Given the description of an element on the screen output the (x, y) to click on. 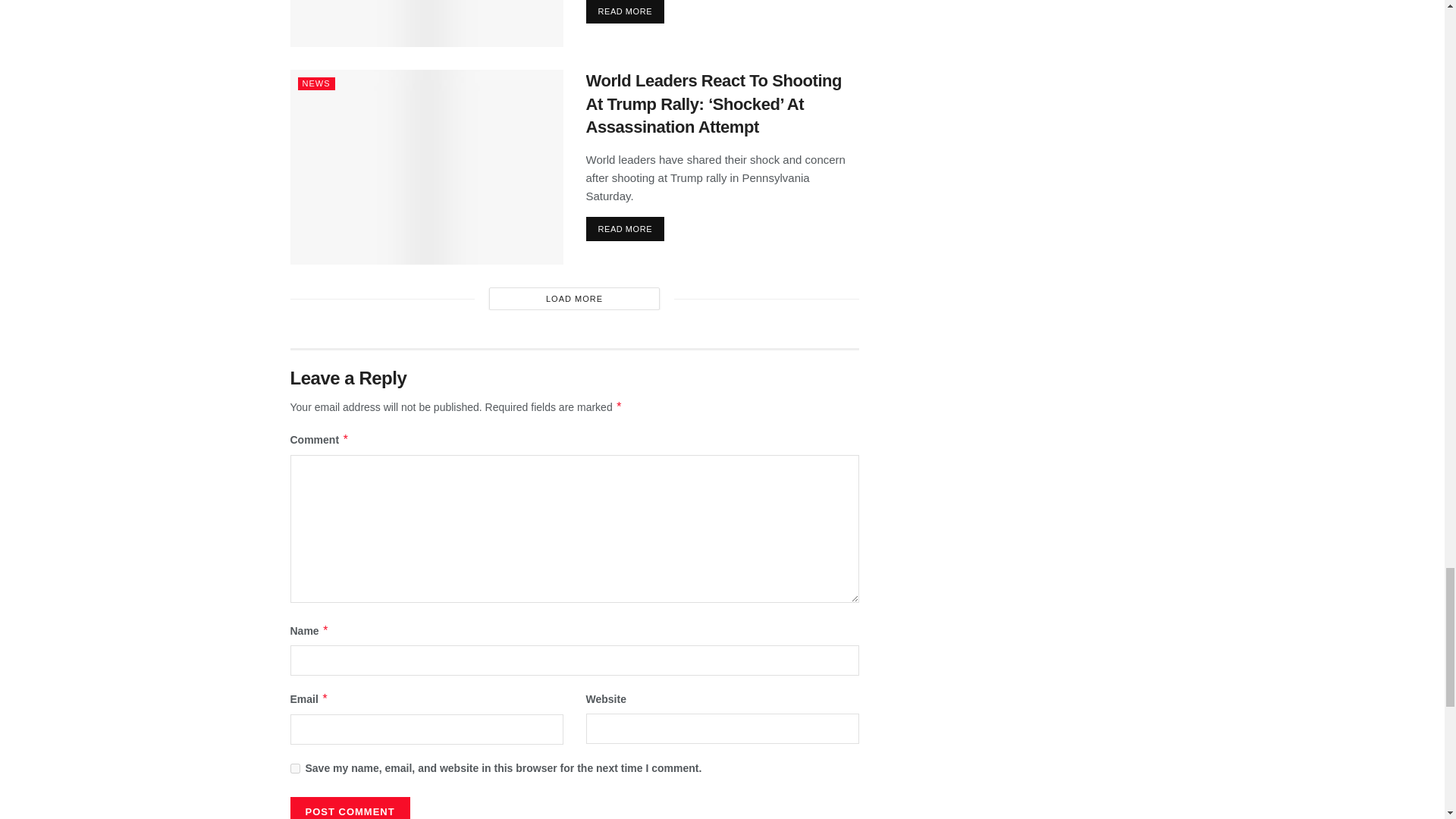
Post Comment (349, 807)
yes (294, 768)
